Given the description of an element on the screen output the (x, y) to click on. 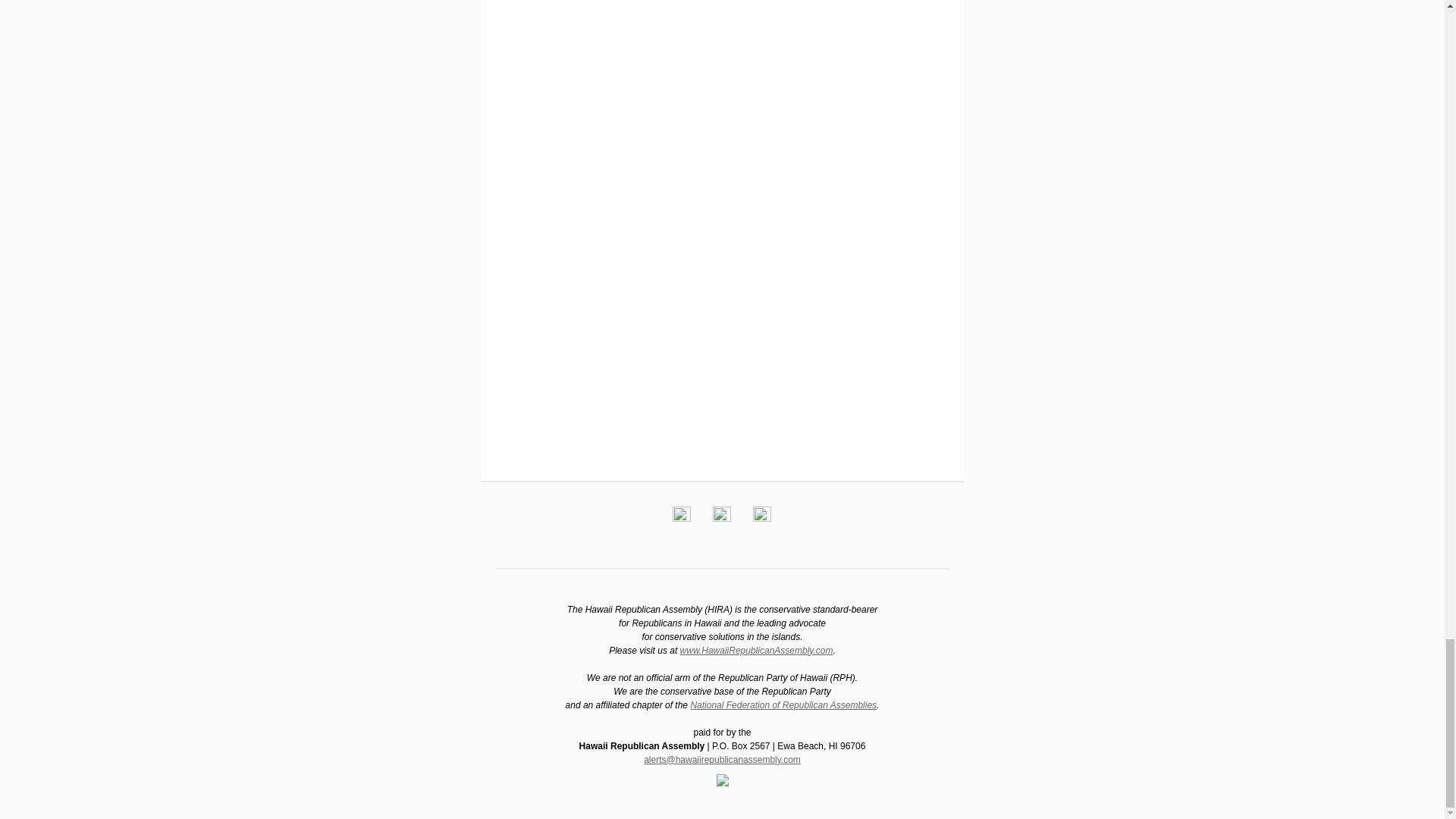
National Federation of Republican Assemblies (783, 705)
HIRA (755, 650)
www.HawaiiRepublicanAssembly.com (755, 650)
NFRA (783, 705)
